Given the description of an element on the screen output the (x, y) to click on. 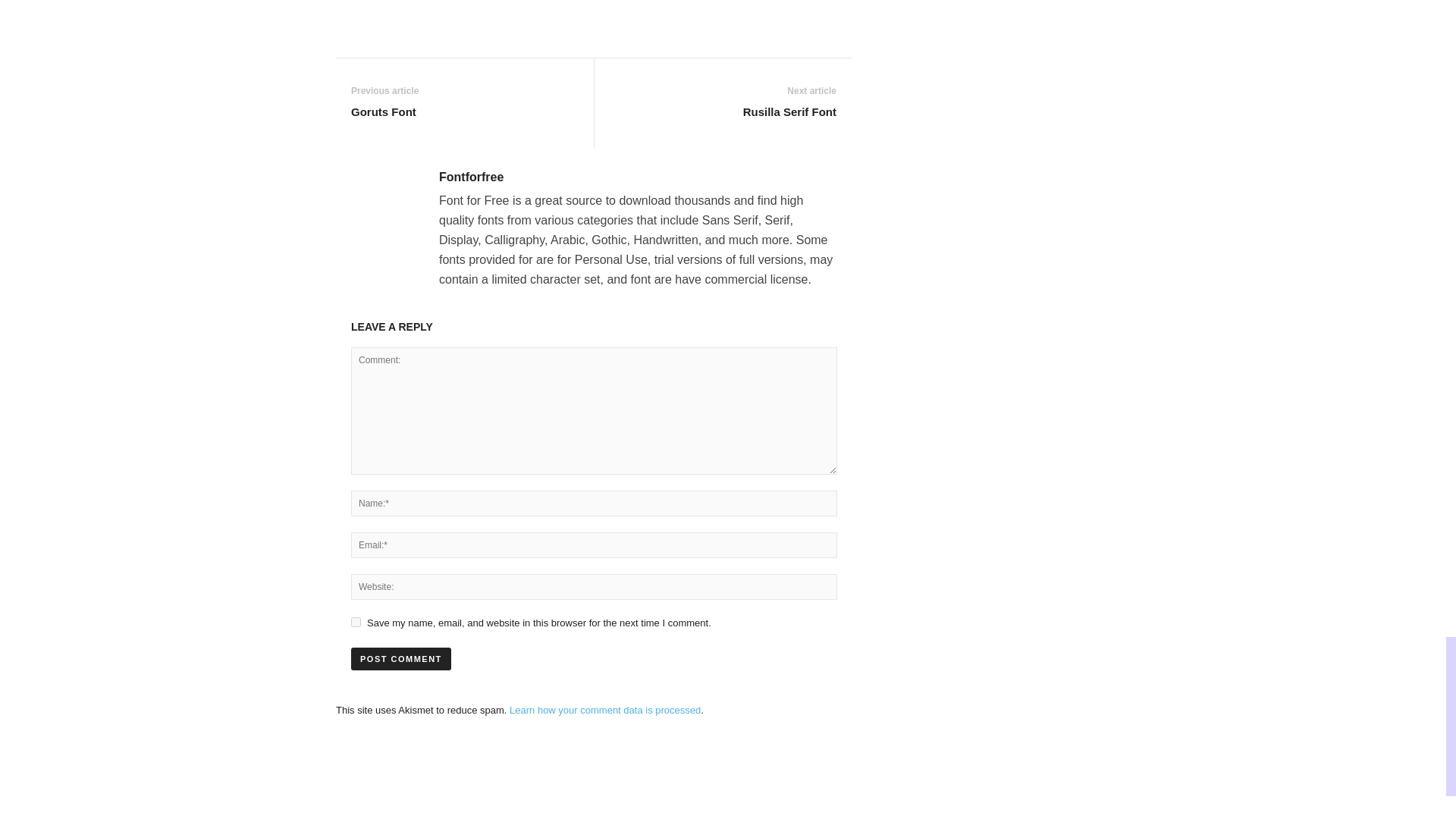
yes (355, 622)
Post Comment (400, 658)
